Given the description of an element on the screen output the (x, y) to click on. 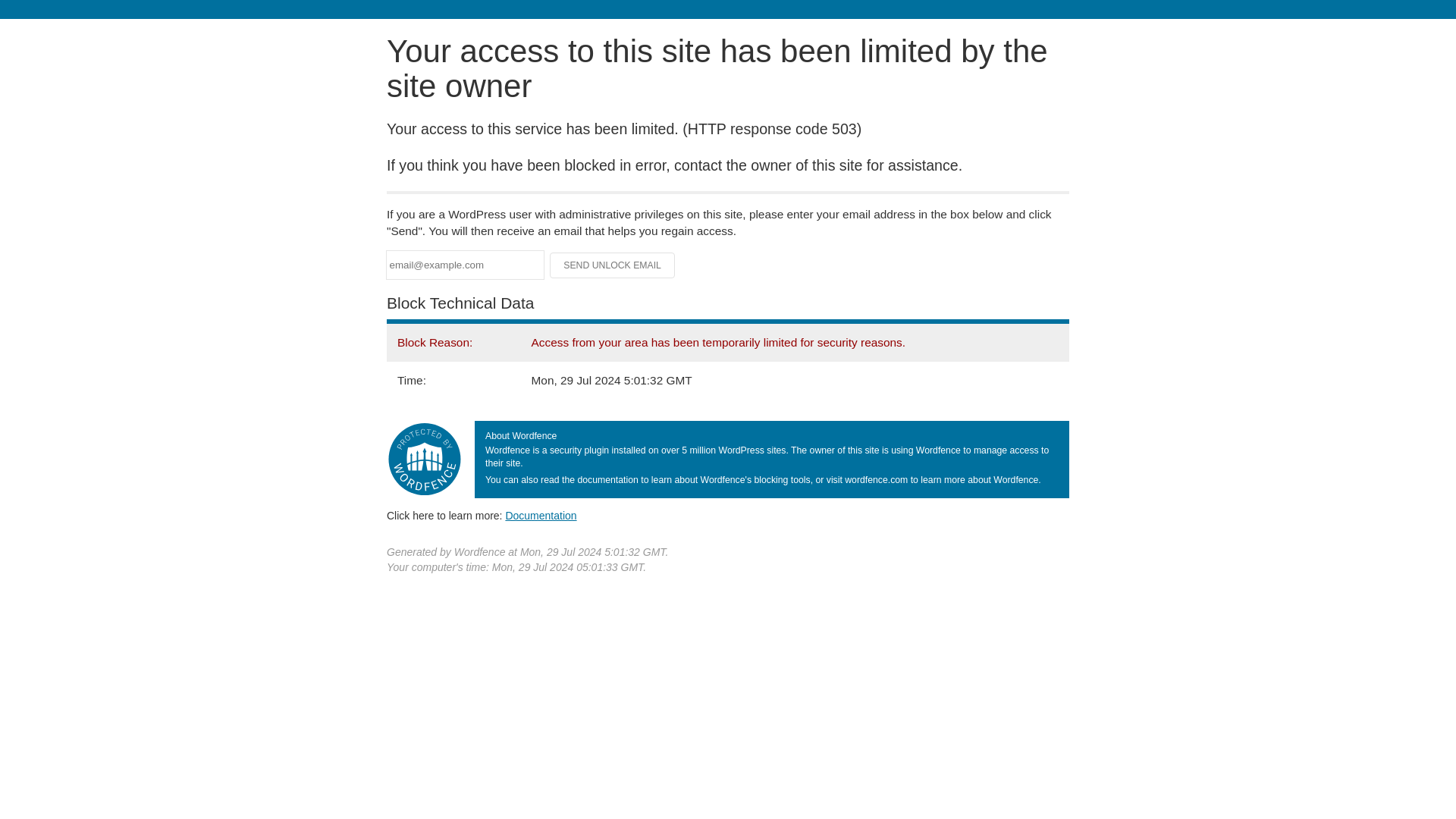
Documentation (540, 515)
Send Unlock Email (612, 265)
Send Unlock Email (612, 265)
